Given the description of an element on the screen output the (x, y) to click on. 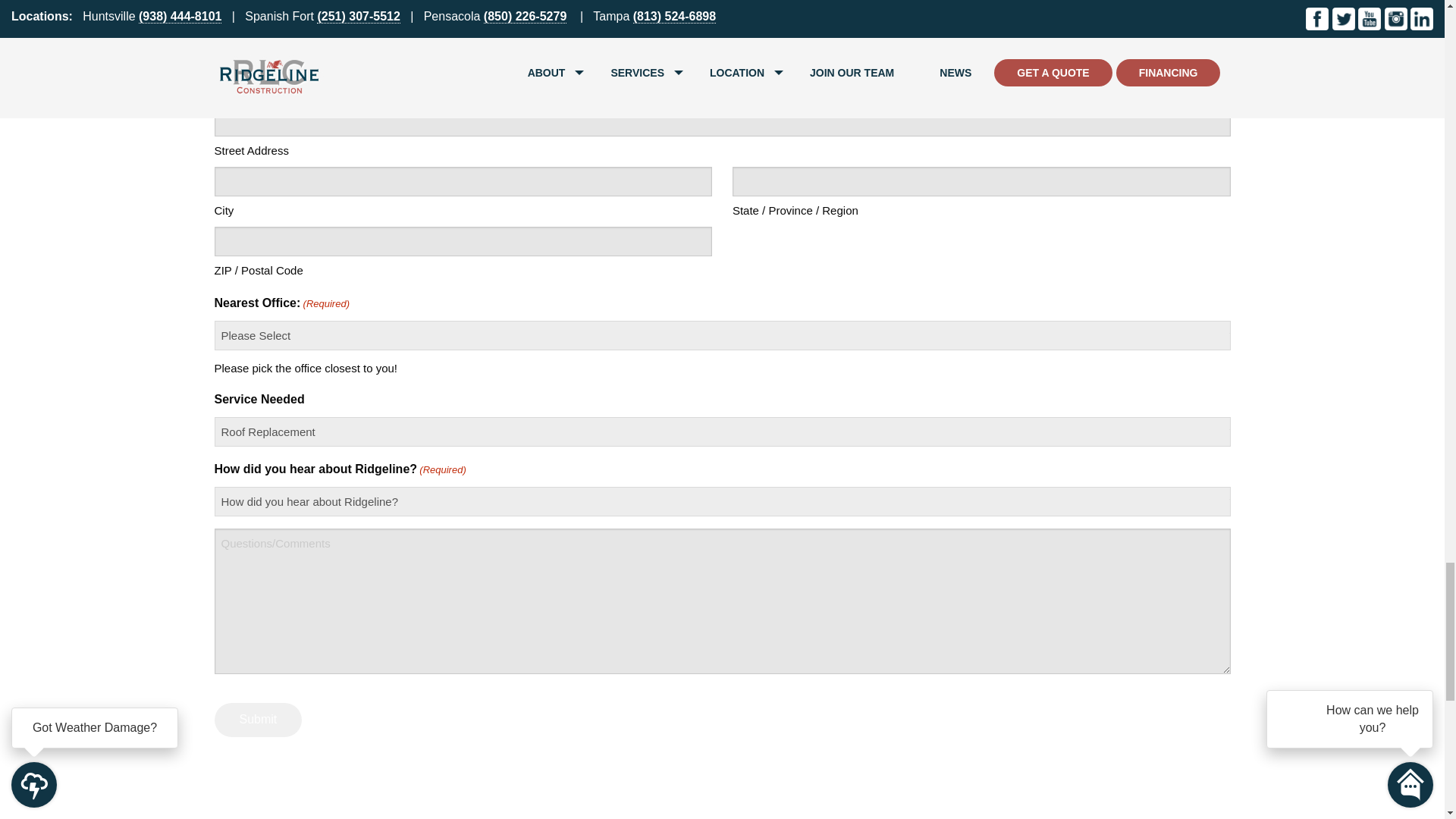
Submit (257, 719)
